Given the description of an element on the screen output the (x, y) to click on. 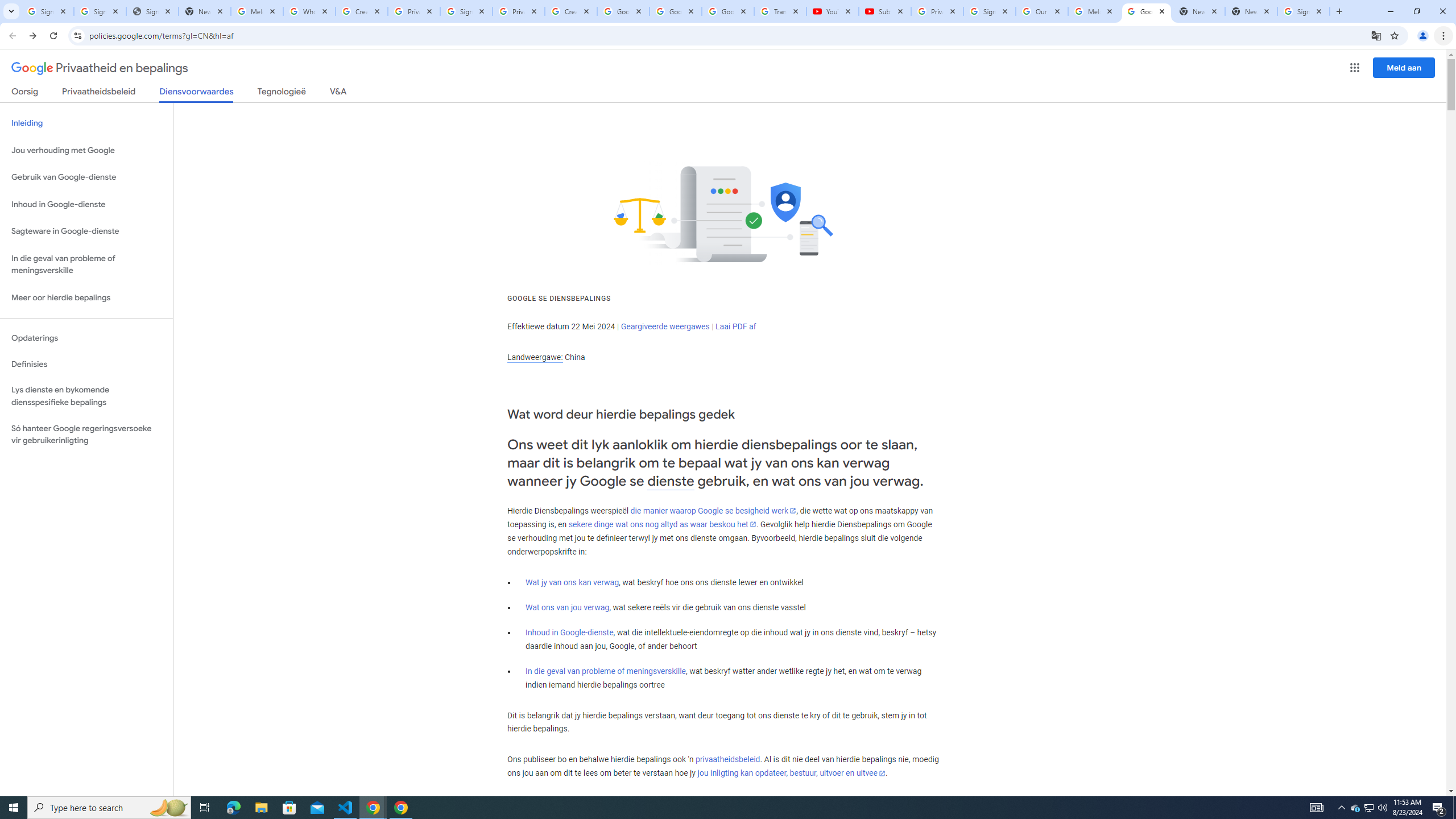
V&A (337, 93)
Google-programme (1355, 67)
Sign in - Google Accounts (99, 11)
Lys dienste en bykomende diensspesifieke bepalings (86, 396)
Privaatheidsbeleid (98, 93)
jou inligting kan opdateer, bestuur, uitvoer en uitvee (791, 773)
Create your Google Account (571, 11)
Jou verhouding met Google (86, 150)
sekere dinge wat ons nog altyd as waar beskou het (662, 524)
dienste (670, 480)
